Given the description of an element on the screen output the (x, y) to click on. 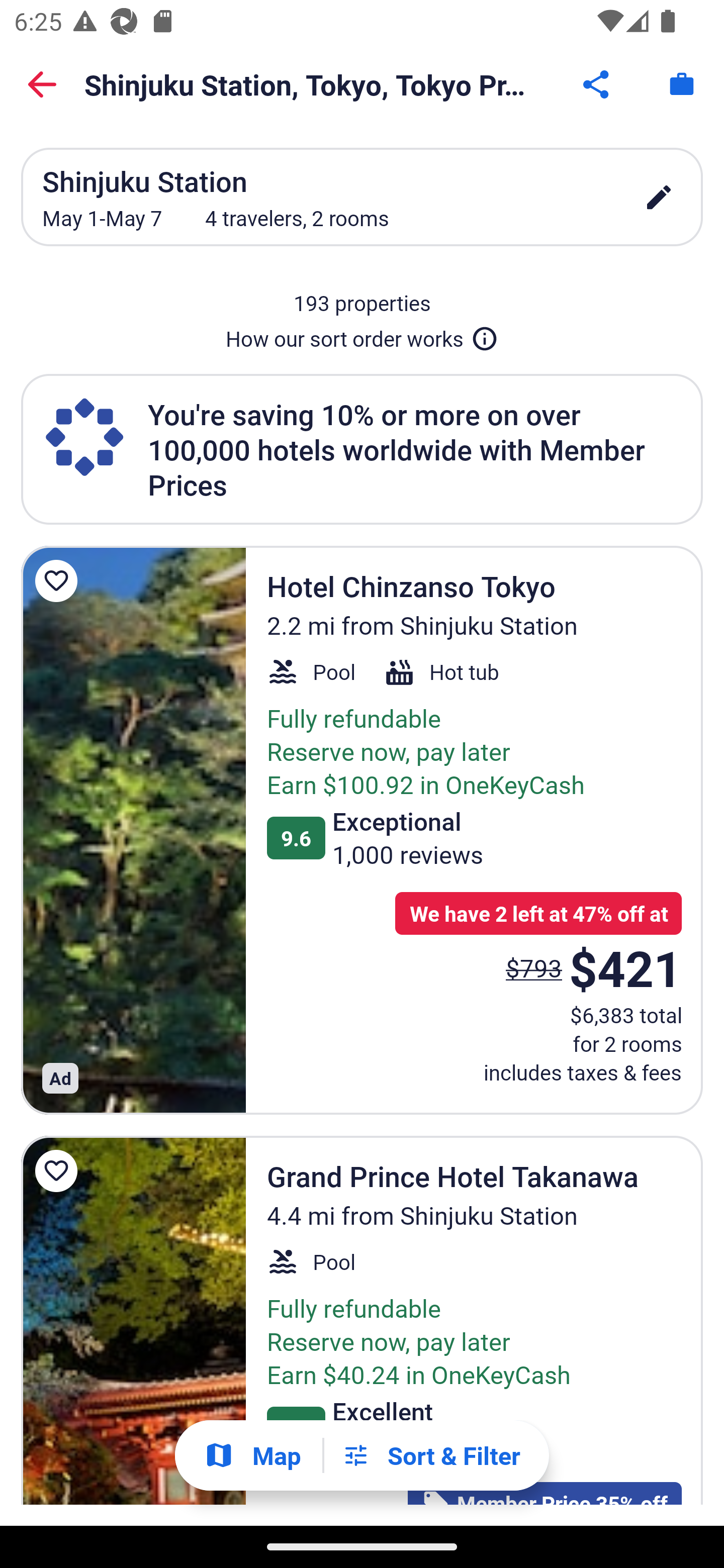
Back (42, 84)
Share Button (597, 84)
Trips. Button (681, 84)
How our sort order works (361, 334)
Save Hotel Chinzanso Tokyo to a trip (59, 580)
Hotel Chinzanso Tokyo (133, 829)
$793 The price was $793 (533, 967)
Save Grand Prince Hotel Takanawa to a trip (59, 1170)
Grand Prince Hotel Takanawa (133, 1320)
Filters Sort & Filter Filters Button (430, 1455)
Show map Map Show map Button (252, 1455)
